Given the description of an element on the screen output the (x, y) to click on. 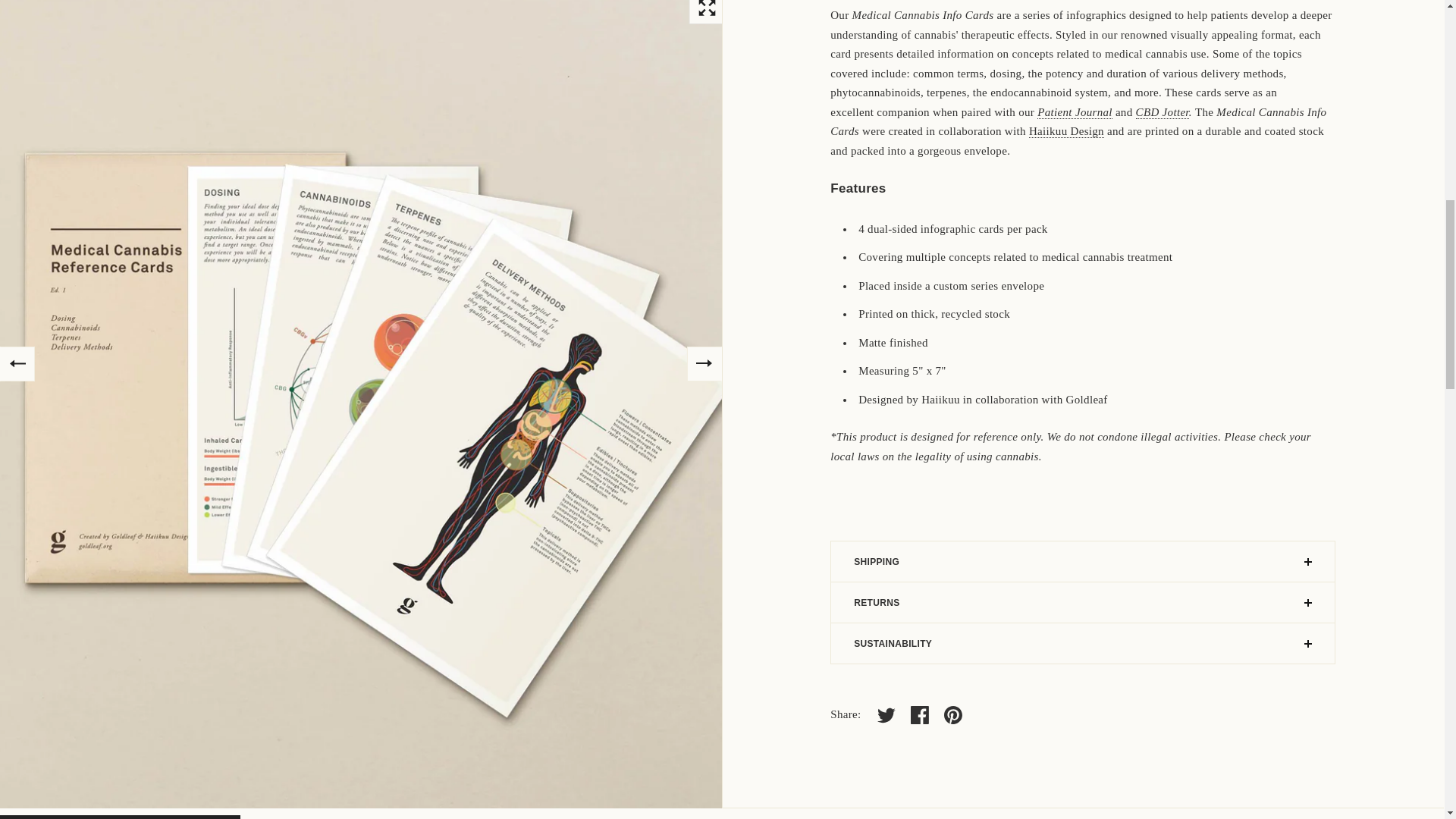
View Haiikuu Design (1066, 131)
